Given the description of an element on the screen output the (x, y) to click on. 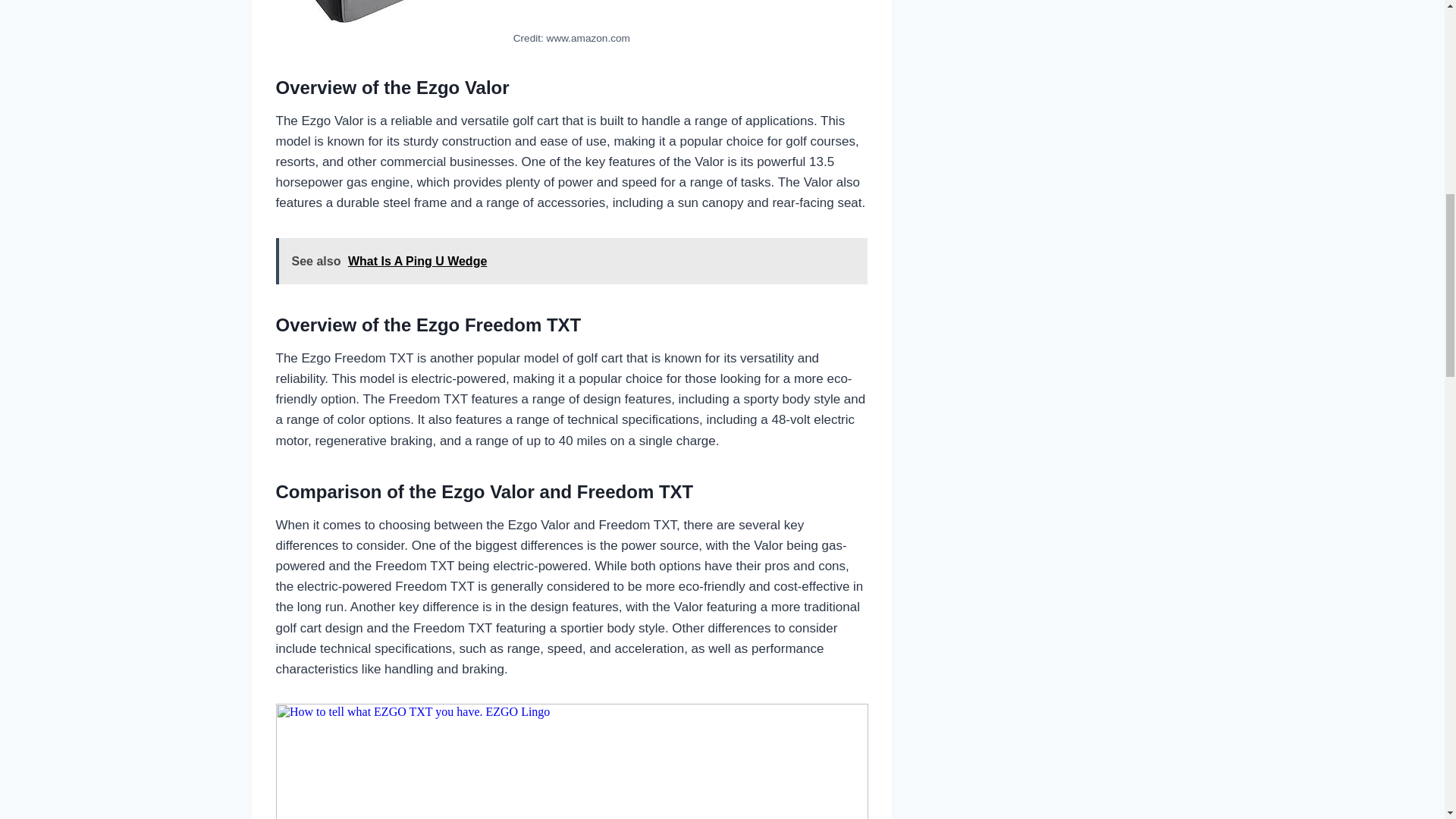
See also  What Is A Ping U Wedge (571, 261)
How to tell what EZGO TXT you have.   EZGO Lingo (571, 761)
